Given the description of an element on the screen output the (x, y) to click on. 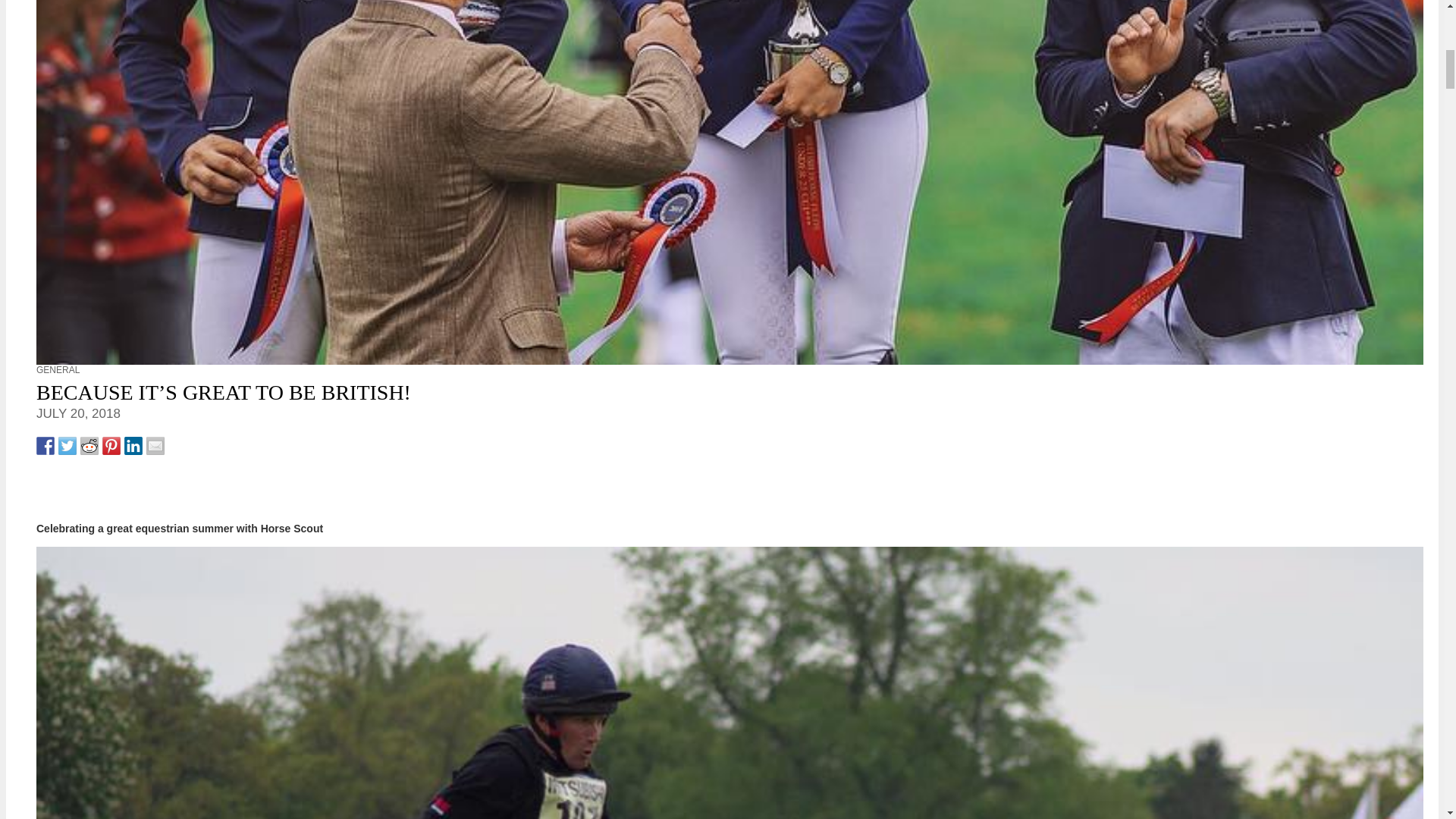
Share on Linkedin (132, 445)
GENERAL (58, 369)
Share by email (155, 445)
Share on Twitter (67, 445)
Share on Facebook (45, 445)
Share on Reddit (89, 445)
Pin it with Pinterest (110, 445)
